Given the description of an element on the screen output the (x, y) to click on. 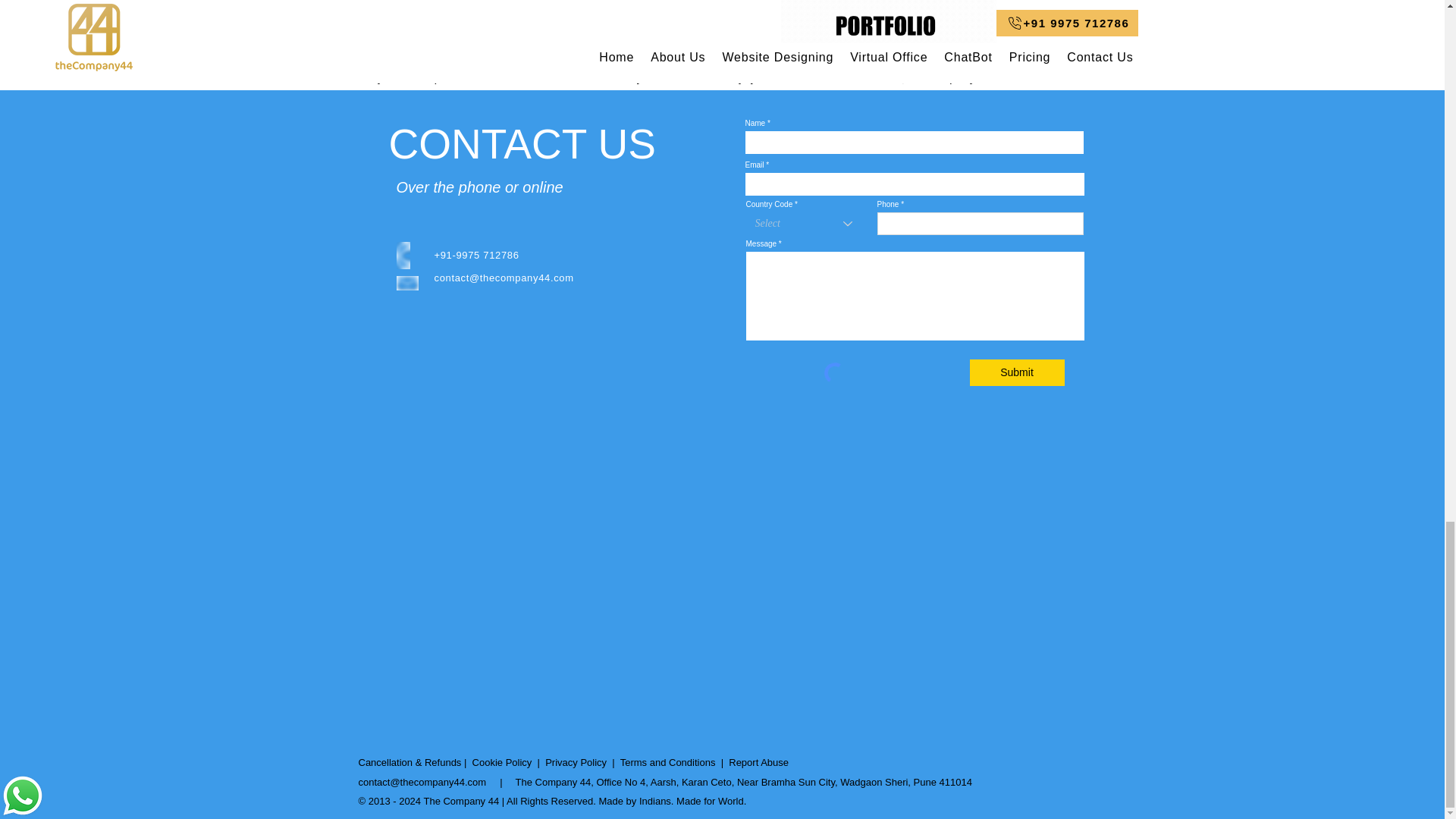
Google Maps (921, 586)
Terms and Conditions (668, 762)
Privacy Policy (575, 762)
Submit (1016, 372)
Report Abuse (759, 762)
Google Maps (519, 585)
Cookie Policy (501, 762)
The Company 44 (461, 800)
